Given the description of an element on the screen output the (x, y) to click on. 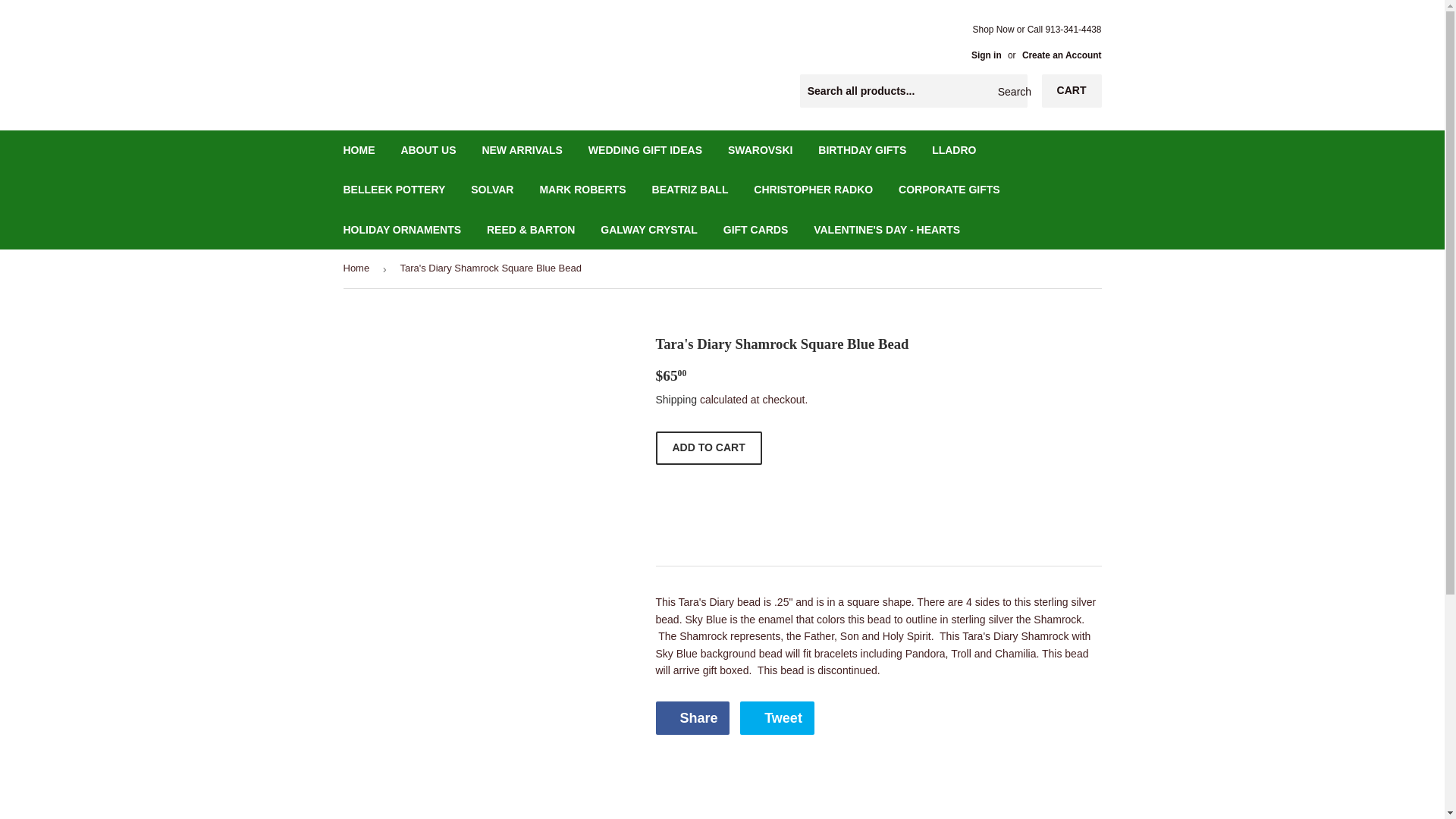
SWAROVSKI (760, 149)
WEDDING GIFT IDEAS (644, 149)
HOME (359, 149)
NEW ARRIVALS (521, 149)
CART (1072, 90)
Share on Facebook (692, 717)
Back to the frontpage (358, 268)
Search (1009, 91)
Sign in (986, 54)
Create an Account (1062, 54)
Tweet on Twitter (776, 717)
ABOUT US (427, 149)
